Given the description of an element on the screen output the (x, y) to click on. 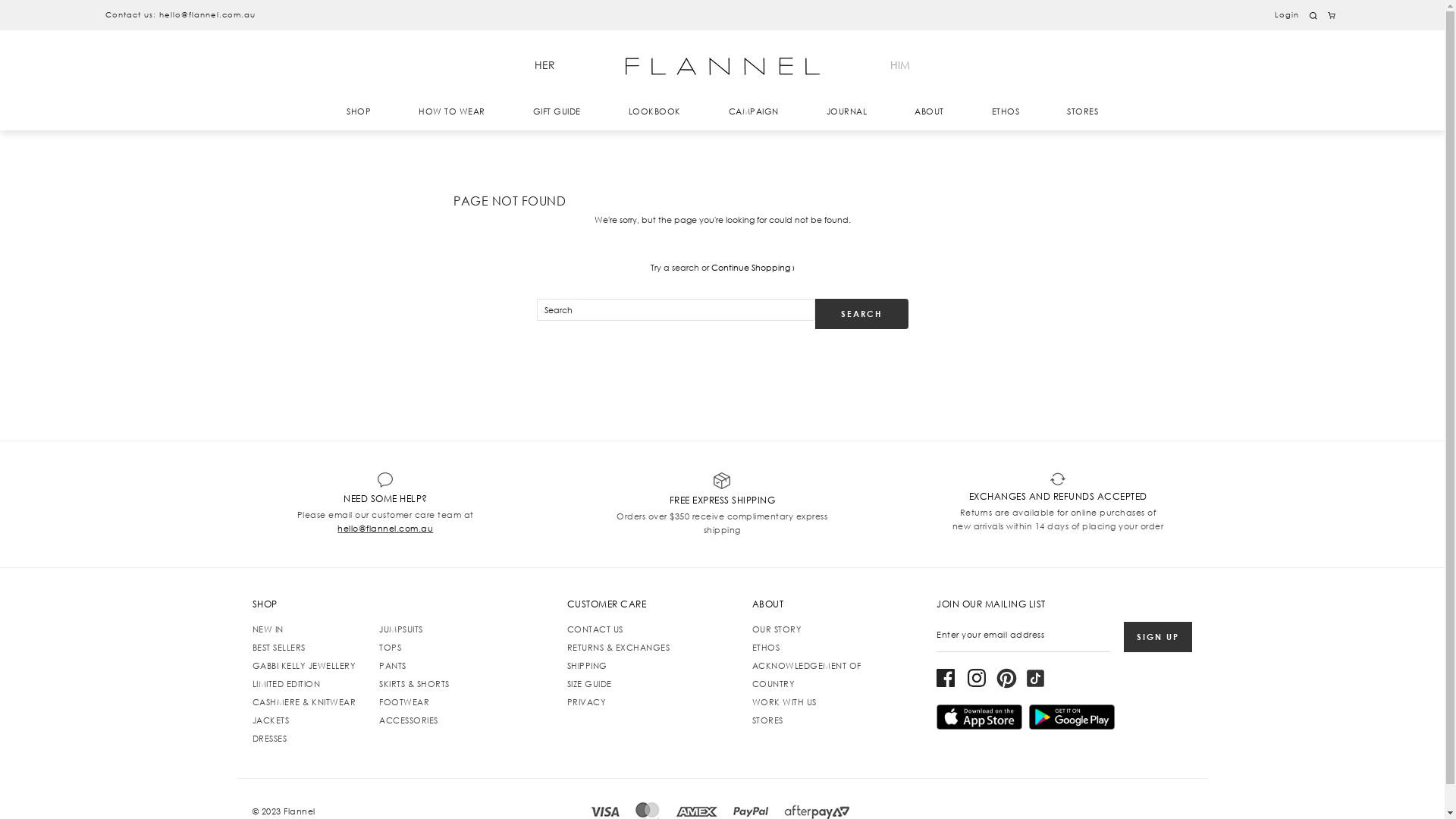
PRIVACY Element type: text (586, 702)
Sign up Element type: text (1157, 636)
OUR STORY Element type: text (777, 629)
SIZE GUIDE Element type: text (589, 683)
FOOTWEAR Element type: text (404, 702)
ETHOS Element type: text (1005, 111)
RETURNS & EXCHANGES Element type: text (618, 647)
JACKETS Element type: text (269, 720)
HOW TO WEAR Element type: text (451, 111)
GABBI KELLY JEWELLERY Element type: text (303, 665)
STORES Element type: text (1082, 111)
Search Element type: text (861, 313)
STORES Element type: text (767, 720)
ACKNOWLEDGEMENT OF COUNTRY Element type: text (806, 674)
HIM Element type: text (900, 64)
LIMITED EDITION Element type: text (285, 683)
ETHOS Element type: text (766, 647)
GIFT GUIDE Element type: text (556, 111)
SHIPPING Element type: text (587, 665)
CAMPAIGN Element type: text (753, 111)
PANTS Element type: text (392, 665)
WORK WITH US Element type: text (784, 702)
BEST SELLERS Element type: text (277, 647)
LOOKBOOK Element type: text (653, 111)
SKIRTS & SHORTS Element type: text (414, 683)
Login Element type: text (1286, 14)
TOPS Element type: text (390, 647)
CASHMERE & KNITWEAR Element type: text (303, 702)
DRESSES Element type: text (268, 738)
CONTACT US Element type: text (595, 629)
ABOUT Element type: text (929, 111)
hello@flannel.com.au Element type: text (385, 528)
HER Element type: text (544, 64)
SHOP Element type: text (358, 111)
JUMPSUITS Element type: text (401, 629)
ACCESSORIES Element type: text (408, 720)
NEW IN Element type: text (266, 629)
JOURNAL Element type: text (846, 111)
